Given the description of an element on the screen output the (x, y) to click on. 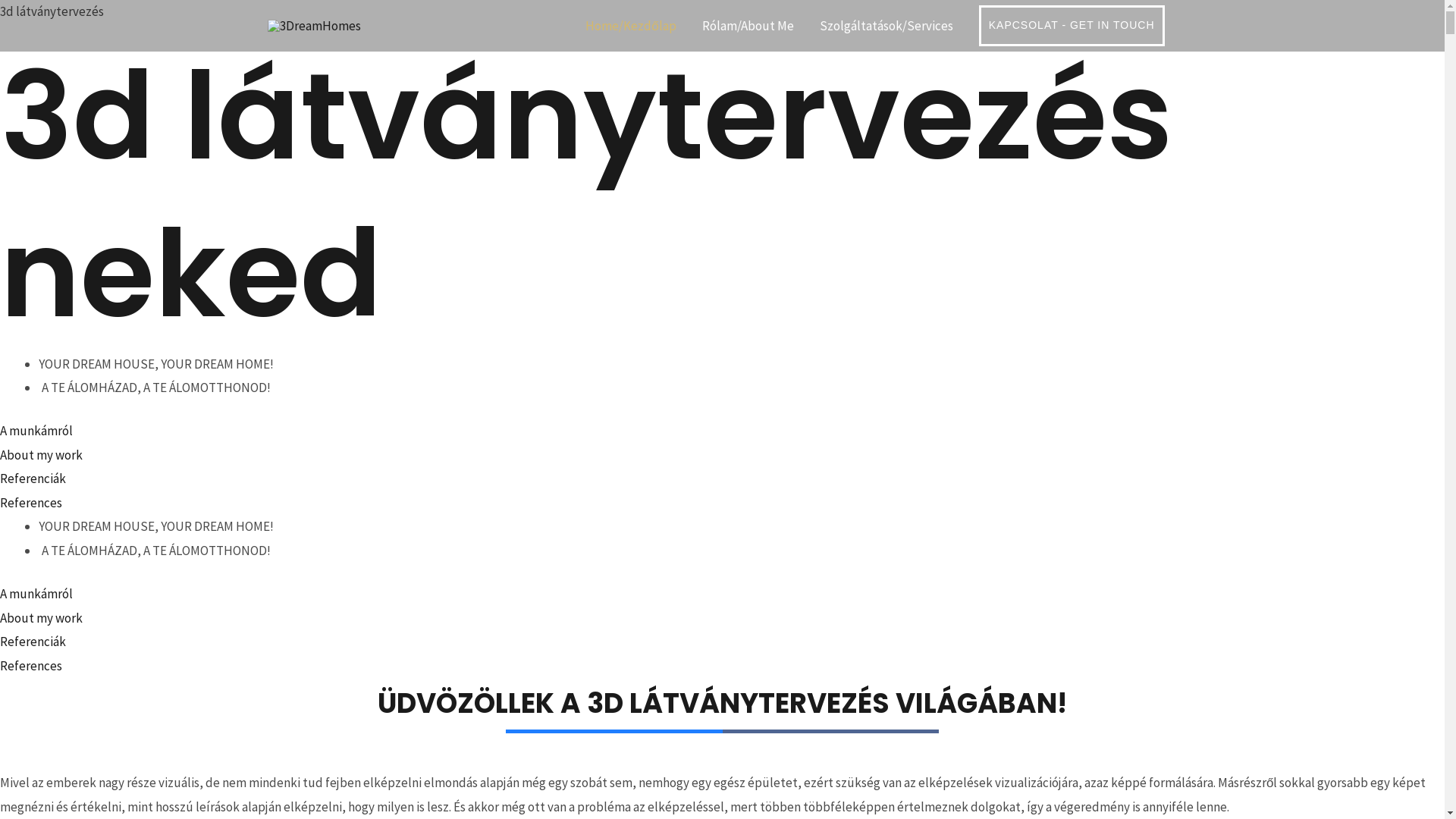
About my work Element type: text (722, 618)
About my work Element type: text (722, 455)
KAPCSOLAT - GET IN TOUCH Element type: text (1071, 25)
References Element type: text (722, 666)
References Element type: text (722, 503)
